Given the description of an element on the screen output the (x, y) to click on. 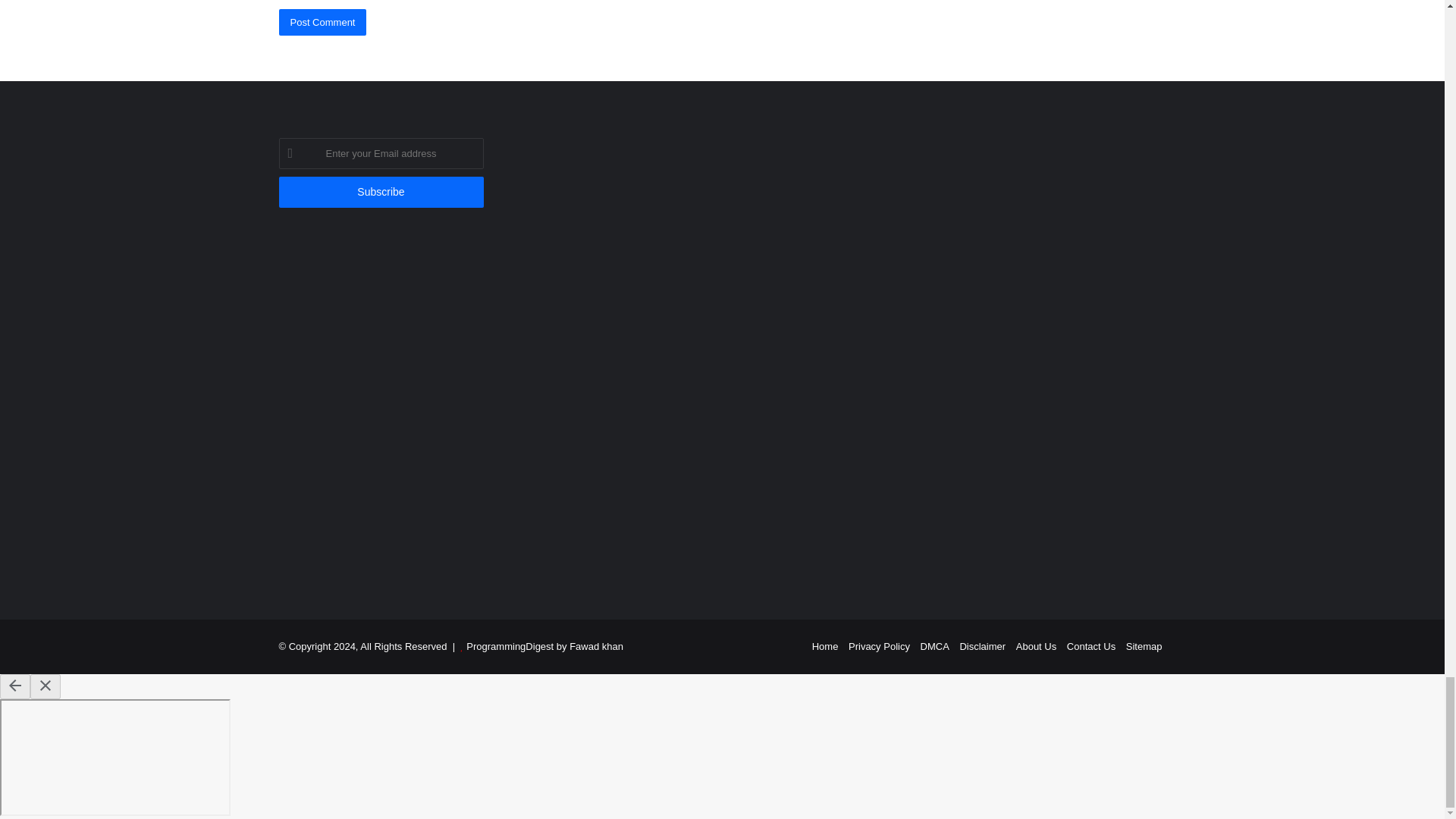
Subscribe (381, 192)
Post Comment (322, 22)
